Given the description of an element on the screen output the (x, y) to click on. 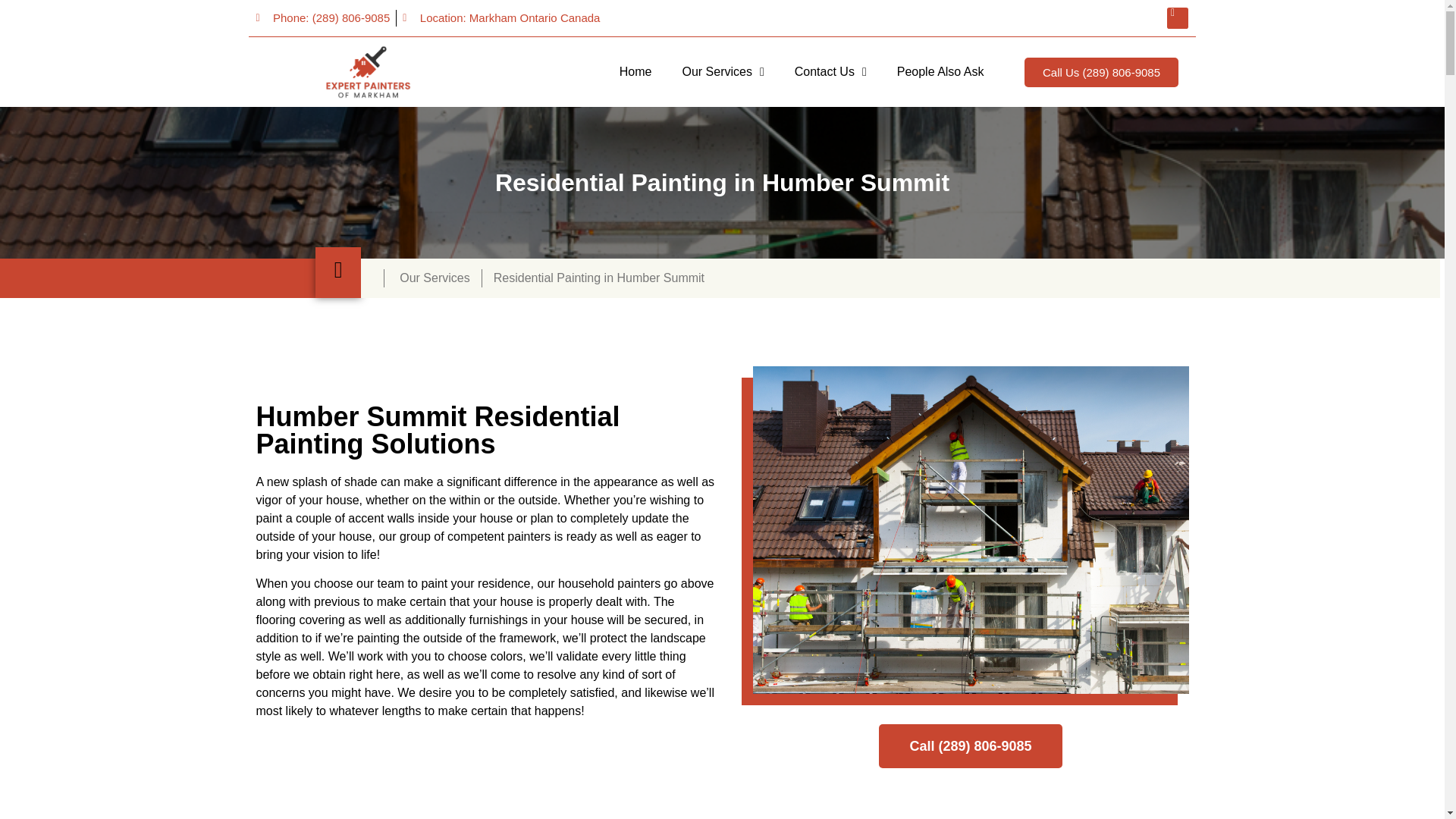
Contact Us (830, 71)
Location: Markham Ontario Canada (501, 18)
Home (635, 71)
Our Services (722, 71)
